Given the description of an element on the screen output the (x, y) to click on. 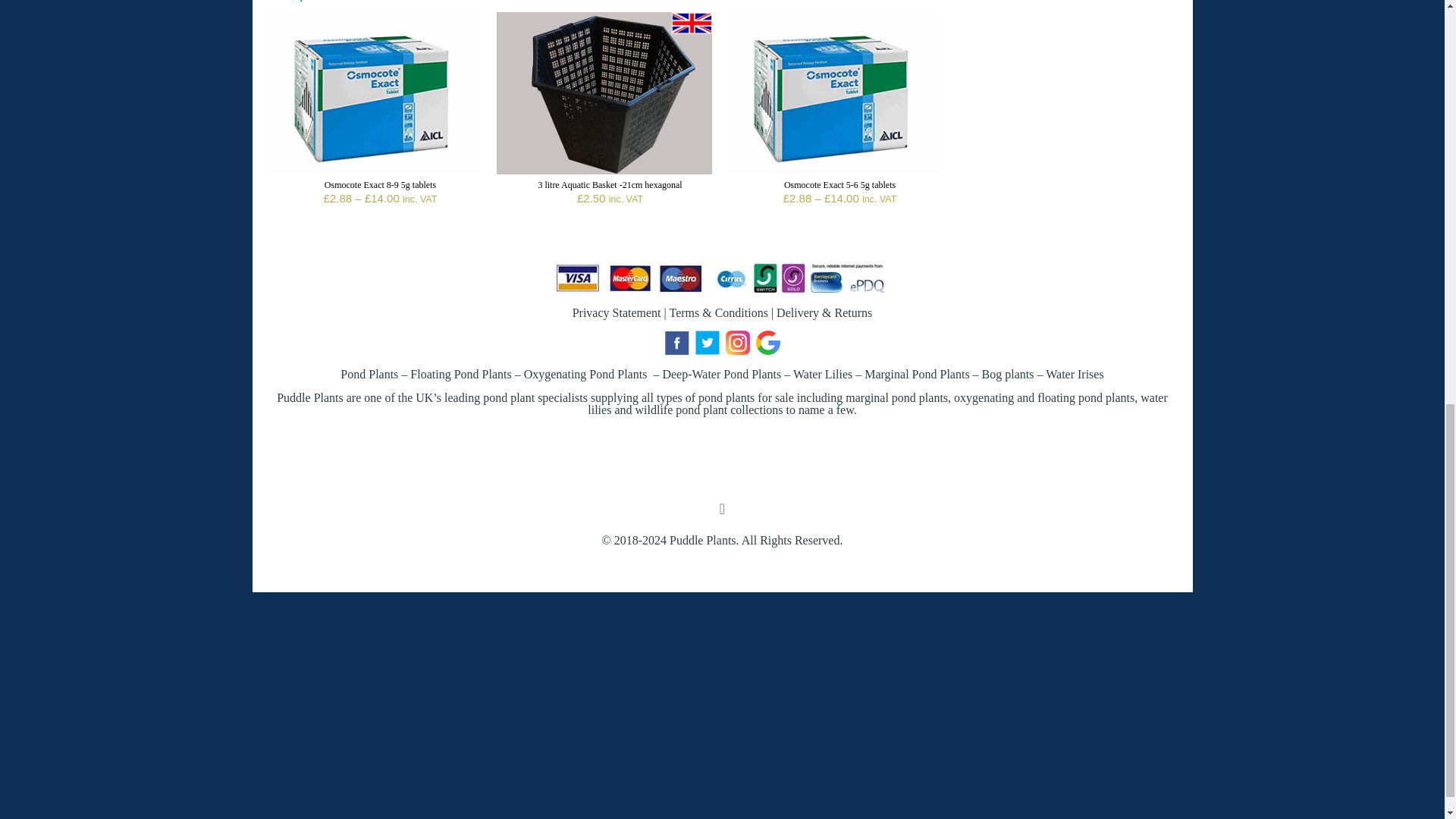
Osmocote Exact 5-6 5g tablets (839, 184)
Osmocote Exact 8-9 5g tablets (379, 184)
3 litre Aquatic Basket -21cm hexagonal (609, 184)
